Given the description of an element on the screen output the (x, y) to click on. 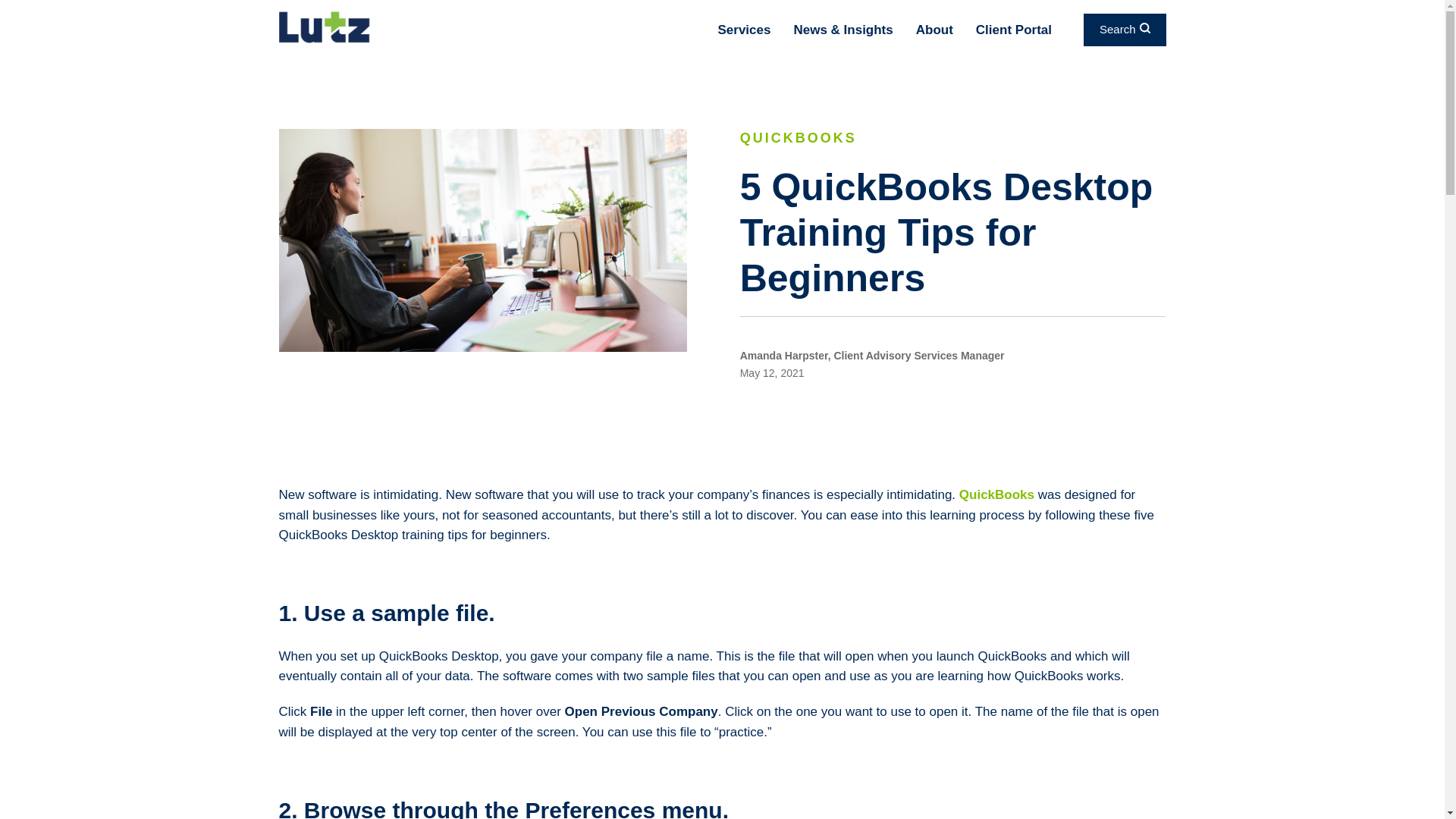
lutz logo  (324, 27)
Client Portal (1013, 30)
Search (1124, 29)
